Given the description of an element on the screen output the (x, y) to click on. 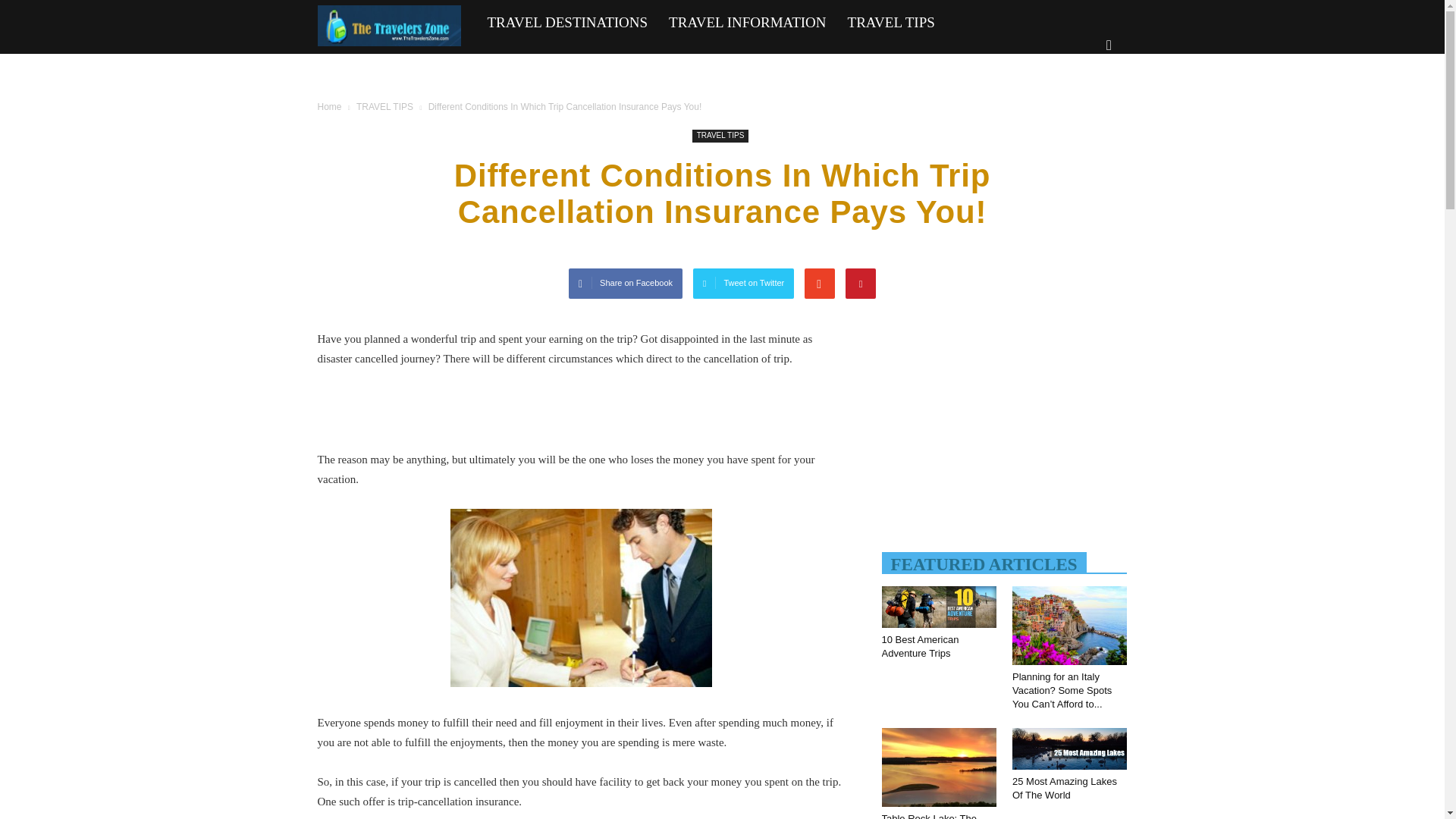
BUDGET TRAVEL (550, 67)
TRAVEL INFORMATION (746, 22)
TRAVEL TIPS (721, 135)
TRAVEL DESTINATIONS (567, 22)
Share on Facebook (625, 283)
TRAVEL ESSENTIALS (398, 67)
View all posts in TRAVEL TIPS (385, 106)
TRAVEL TIPS (890, 22)
Newspaper 6 - News Magazine theme for Wordpress (389, 25)
Tweet on Twitter (743, 283)
